Given the description of an element on the screen output the (x, y) to click on. 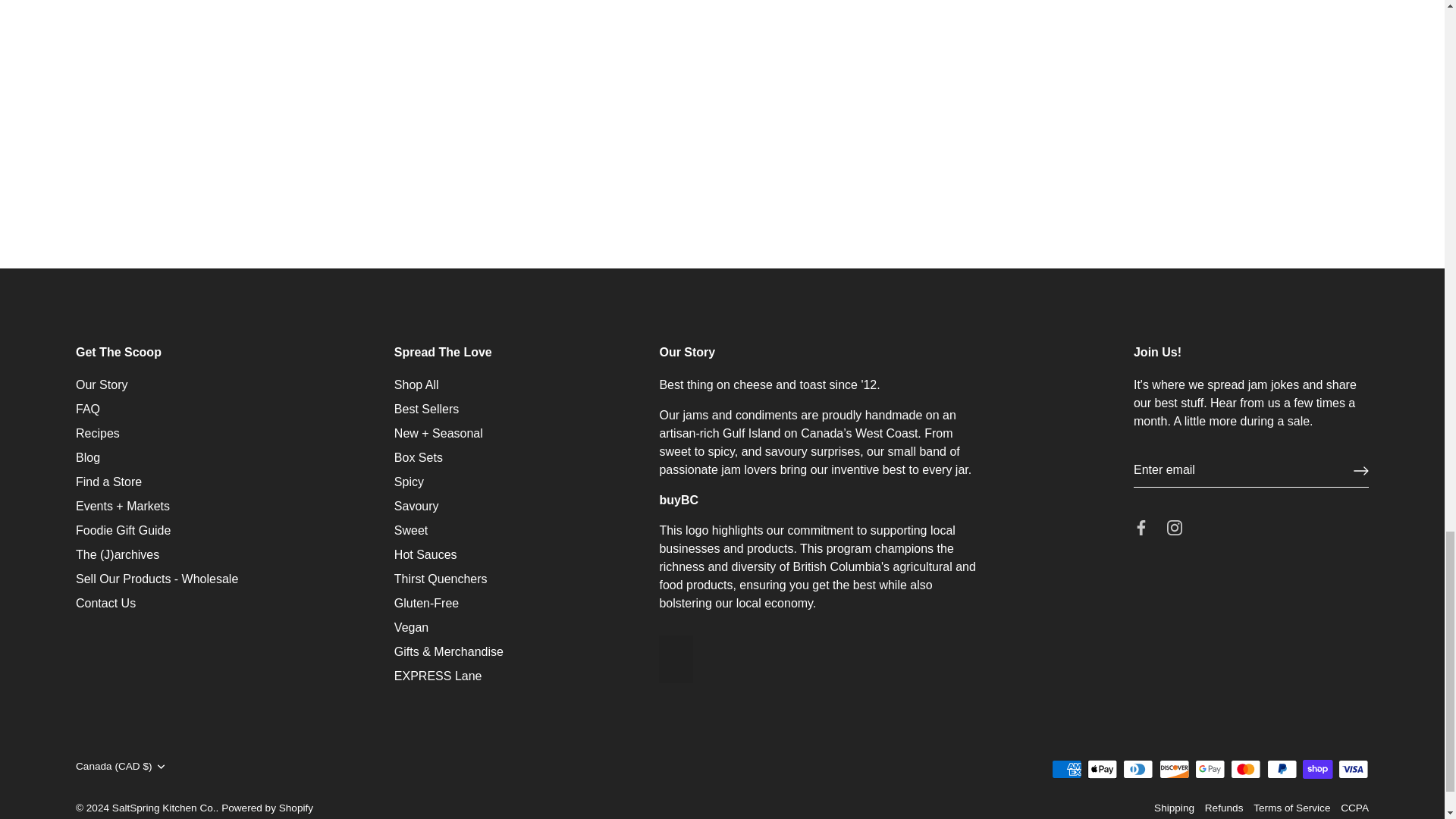
Visa (1353, 769)
Discover (1173, 769)
Google Pay (1209, 769)
Diners Club (1137, 769)
Shop Pay (1317, 769)
Instagram (1174, 527)
PayPal (1281, 769)
American Express (1066, 769)
Apple Pay (1101, 769)
Mastercard (1245, 769)
RIGHT ARROW LONG (1361, 470)
